Given the description of an element on the screen output the (x, y) to click on. 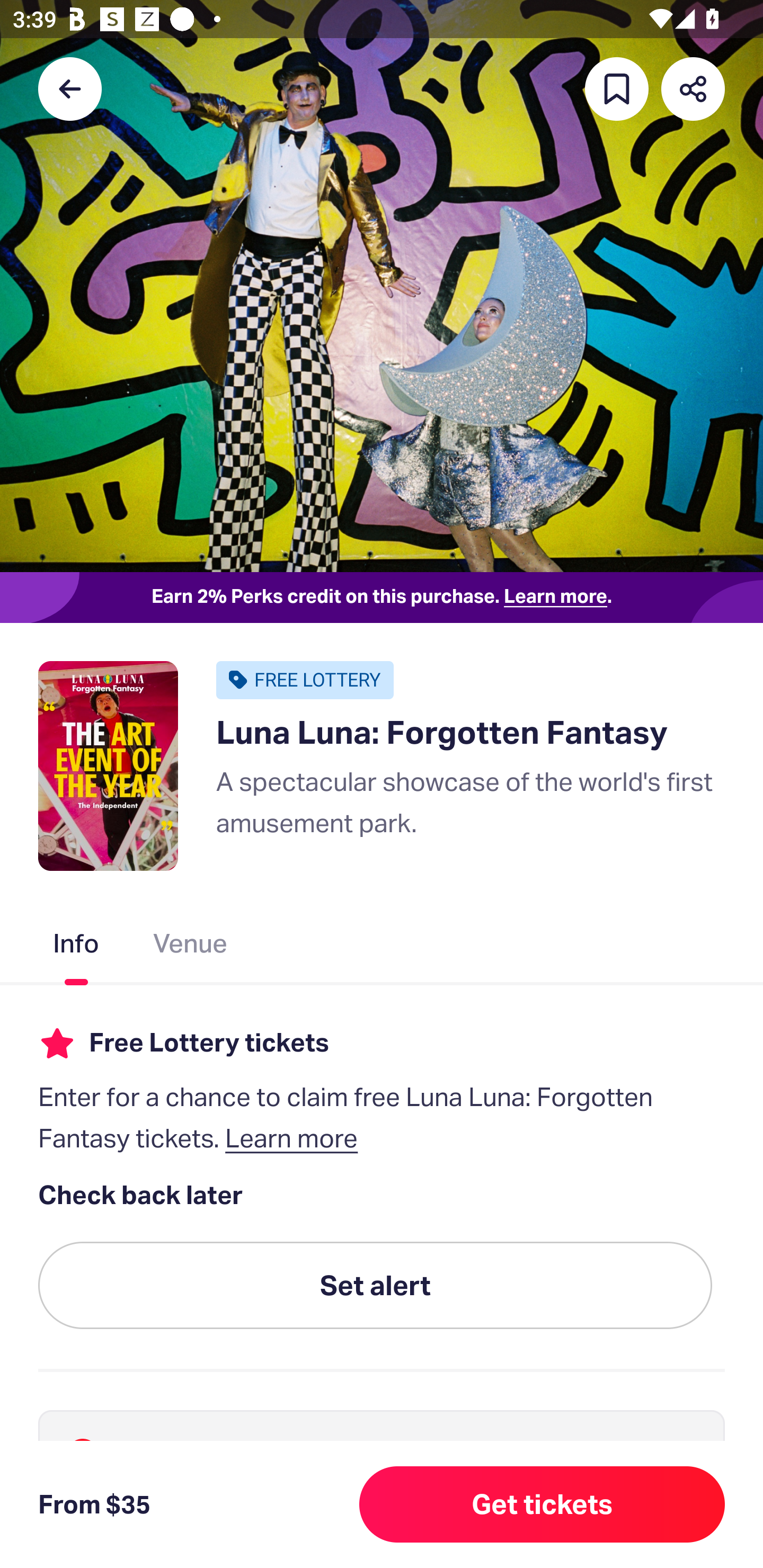
Earn 2% Perks credit on this purchase. Learn more. (381, 597)
Venue (190, 946)
Set alert (374, 1286)
Get tickets (541, 1504)
